Given the description of an element on the screen output the (x, y) to click on. 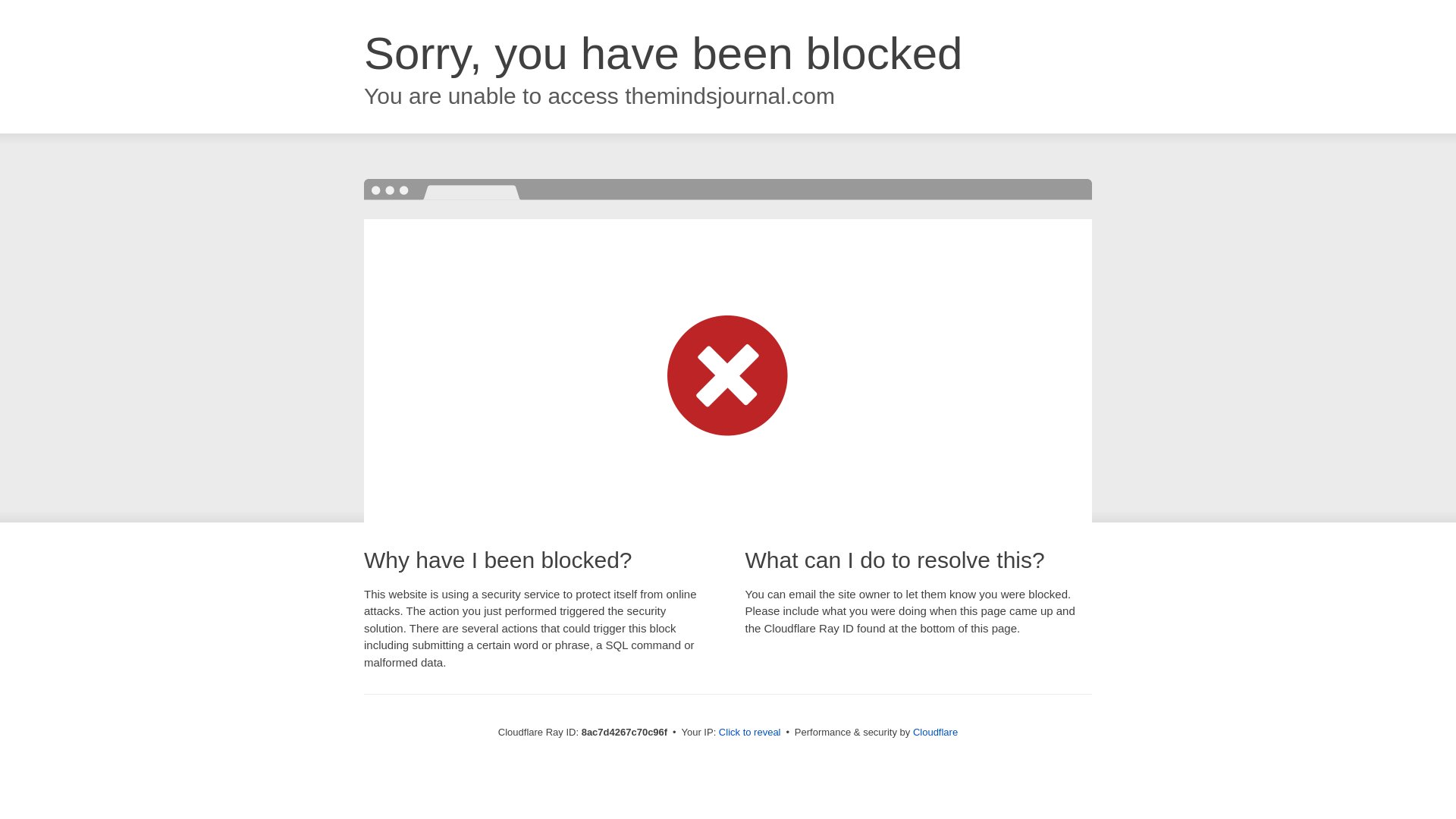
Cloudflare (935, 731)
Click to reveal (749, 732)
